Given the description of an element on the screen output the (x, y) to click on. 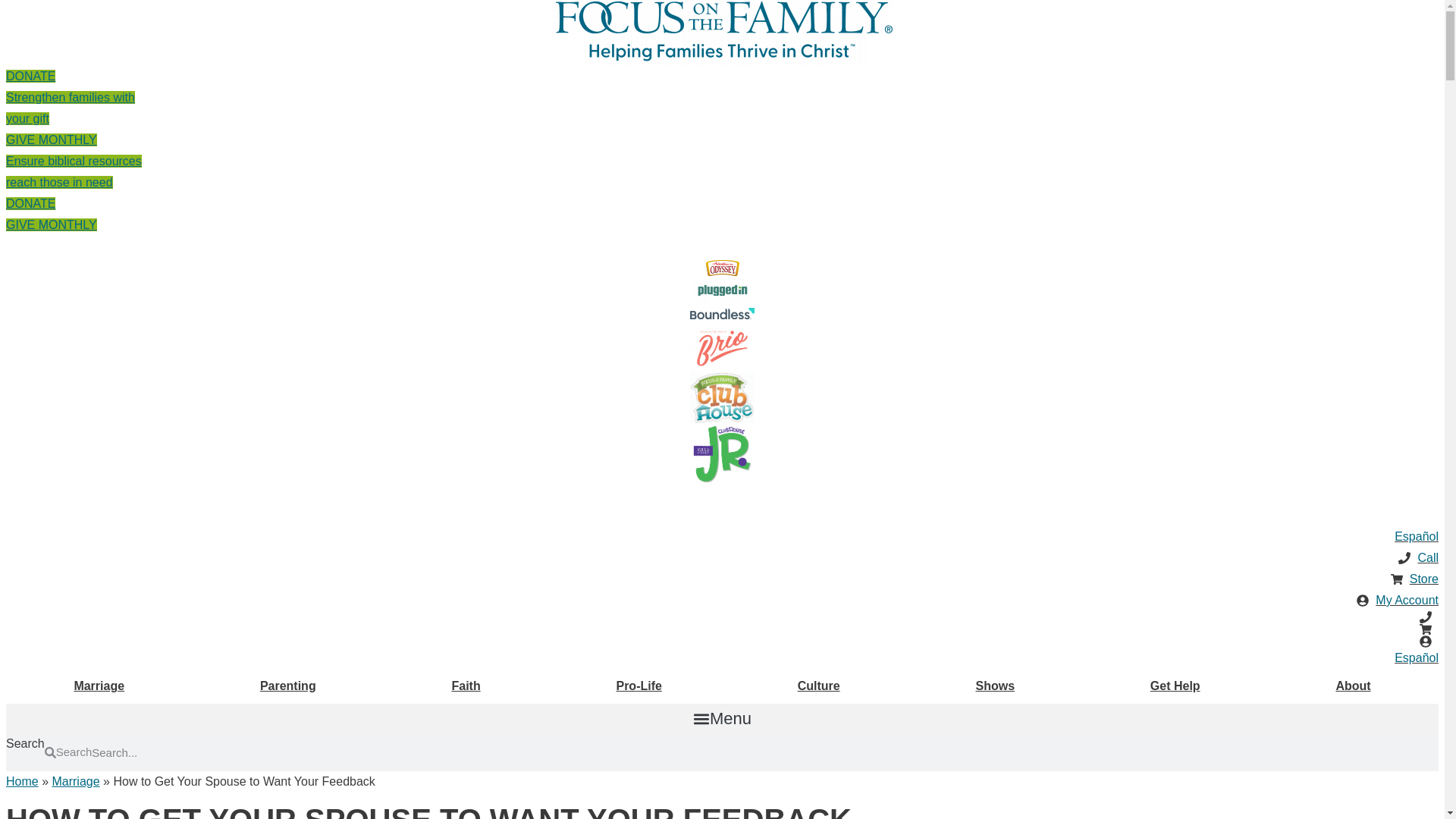
Marriage (98, 686)
Pro-Life (638, 686)
Parenting (288, 686)
Brio (722, 347)
Boundless (722, 313)
GIVE MONTHLY (51, 224)
Focus on the Family (722, 18)
DONATE (30, 203)
Adventures in Odyssey (721, 268)
Focus on the Family Clubhouse Jr. (722, 453)
Focus on the Family Clubhouse (722, 397)
Helping Families Thrive in Christ (721, 51)
Faith (466, 686)
Plugged In (70, 97)
